Given the description of an element on the screen output the (x, y) to click on. 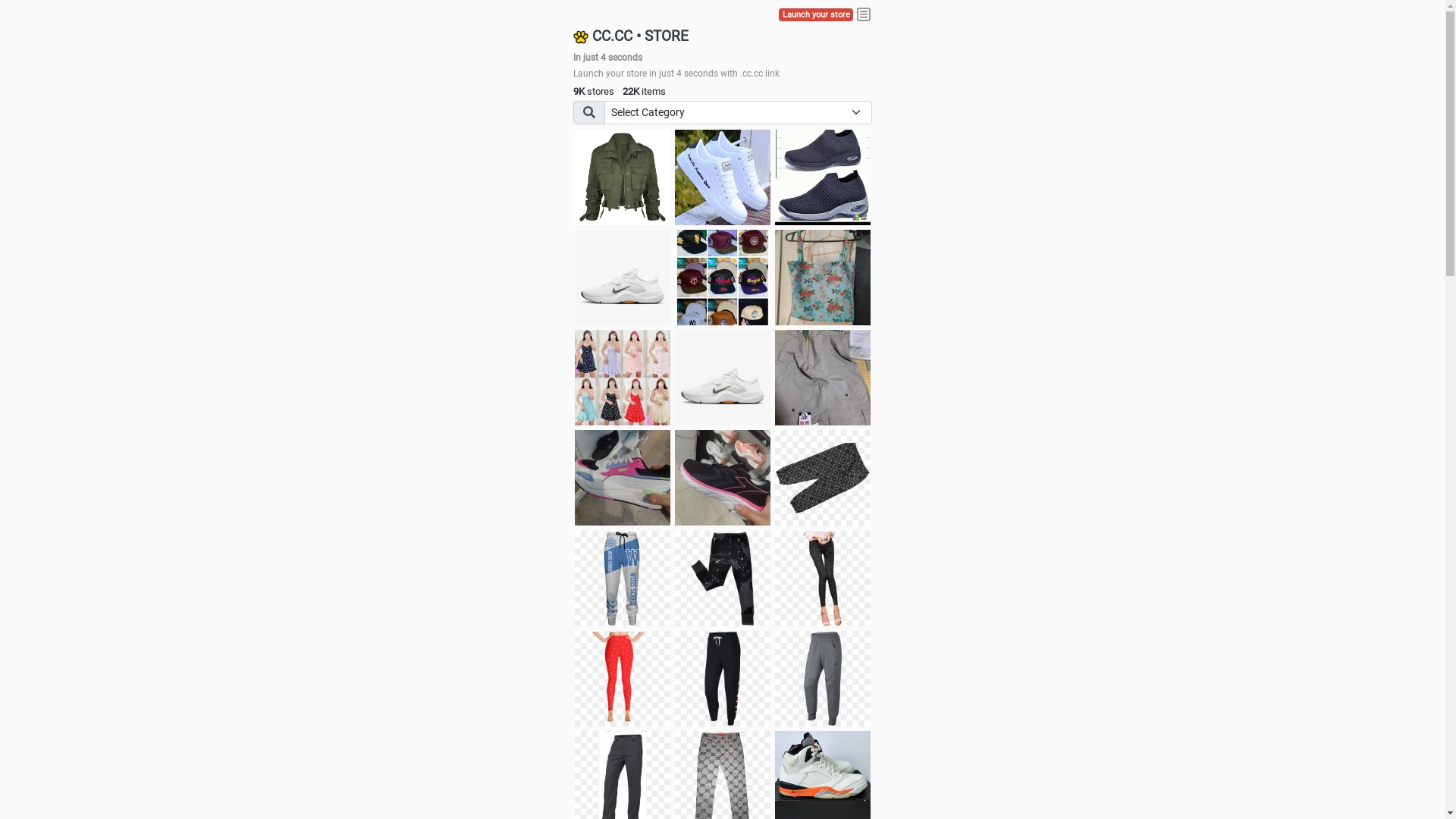
Ukay cloth Element type: hover (822, 277)
Zapatillas Element type: hover (722, 477)
shoes for boys Element type: hover (822, 177)
Launch your store Element type: text (815, 14)
Dress/square nect top Element type: hover (622, 377)
Short pant Element type: hover (822, 477)
Things we need Element type: hover (722, 277)
Zapatillas pumas Element type: hover (622, 477)
white shoes Element type: hover (722, 177)
Pant Element type: hover (822, 678)
Shoes Element type: hover (722, 377)
Pant Element type: hover (622, 578)
Pant Element type: hover (622, 678)
Pant Element type: hover (722, 678)
Pant Element type: hover (722, 578)
Shoes for boys Element type: hover (622, 277)
jacket Element type: hover (622, 177)
Pant Element type: hover (822, 578)
